Given the description of an element on the screen output the (x, y) to click on. 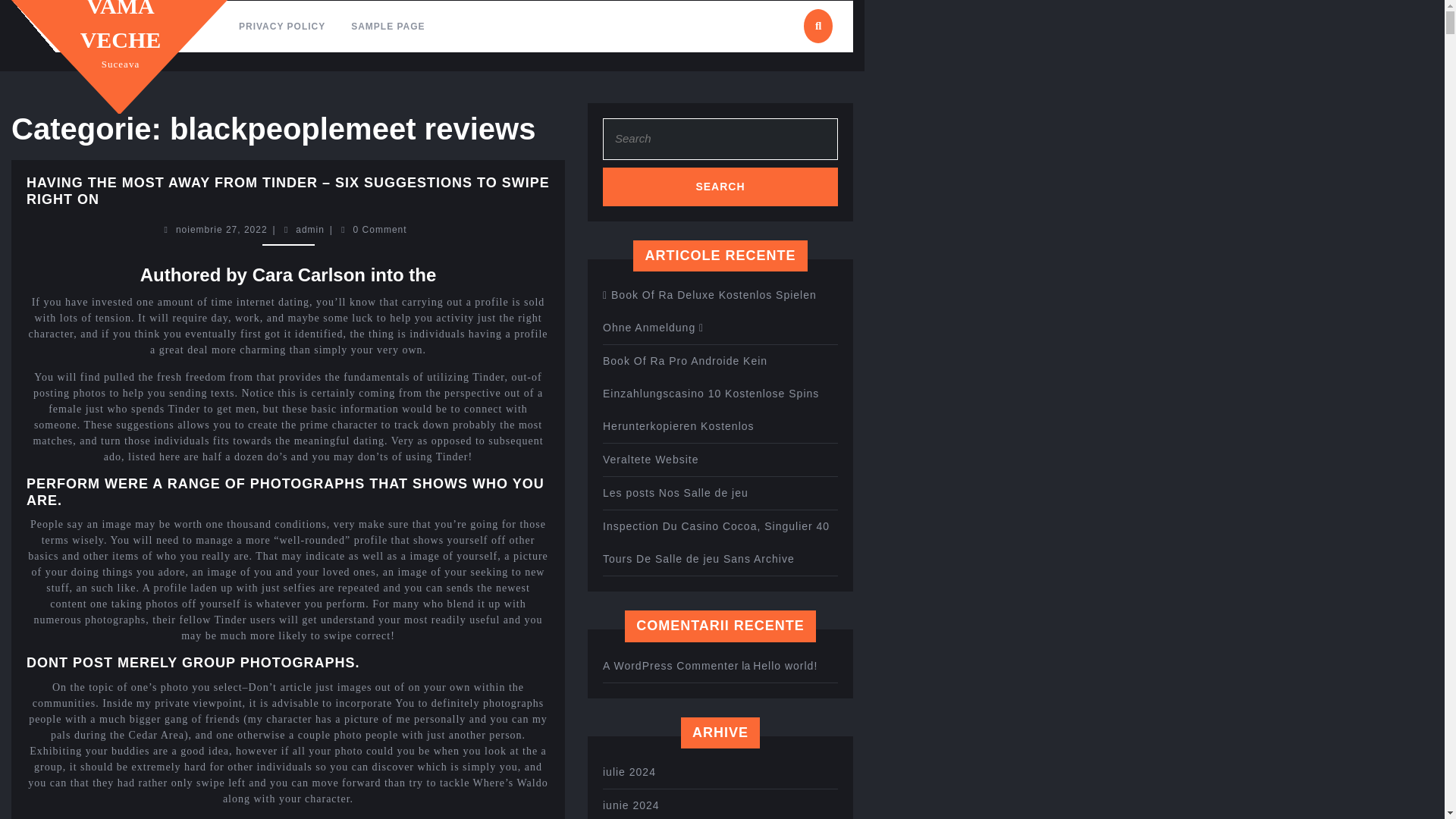
A WordPress Commenter (670, 665)
Search (720, 186)
VAMA VECHE (309, 229)
PRIVACY POLICY (120, 25)
Veraltete Website (221, 229)
iulie 2024 (281, 26)
Hello world! (650, 459)
iunie 2024 (629, 771)
Search (784, 665)
Search (630, 805)
SAMPLE PAGE (720, 186)
Les posts Nos Salle de jeu (720, 186)
